Given the description of an element on the screen output the (x, y) to click on. 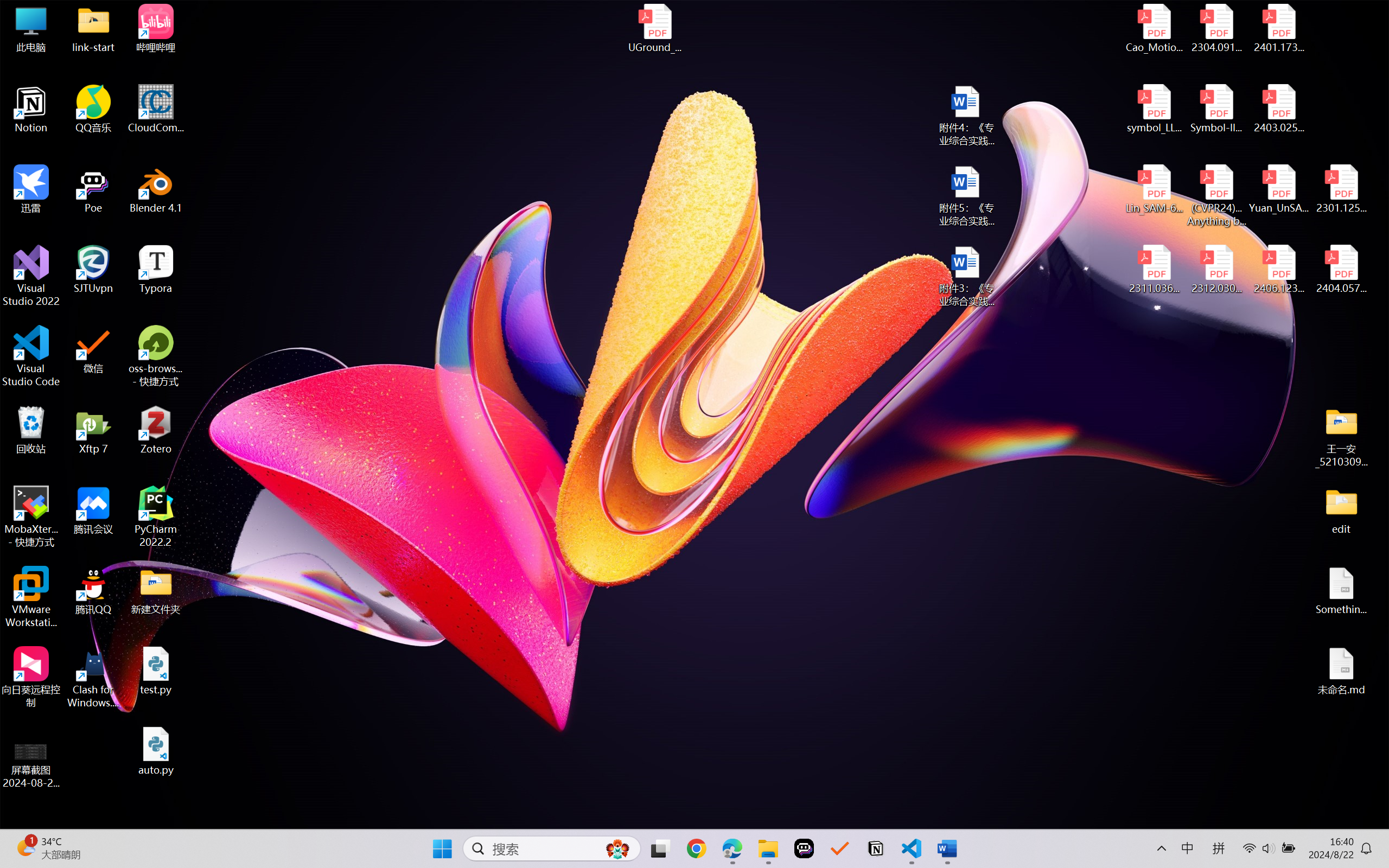
Notion (875, 848)
CloudCompare (156, 109)
2401.17399v1.pdf (1278, 28)
auto.py (156, 751)
Symbol-llm-v2.pdf (1216, 109)
Something.md (1340, 591)
